Given the description of an element on the screen output the (x, y) to click on. 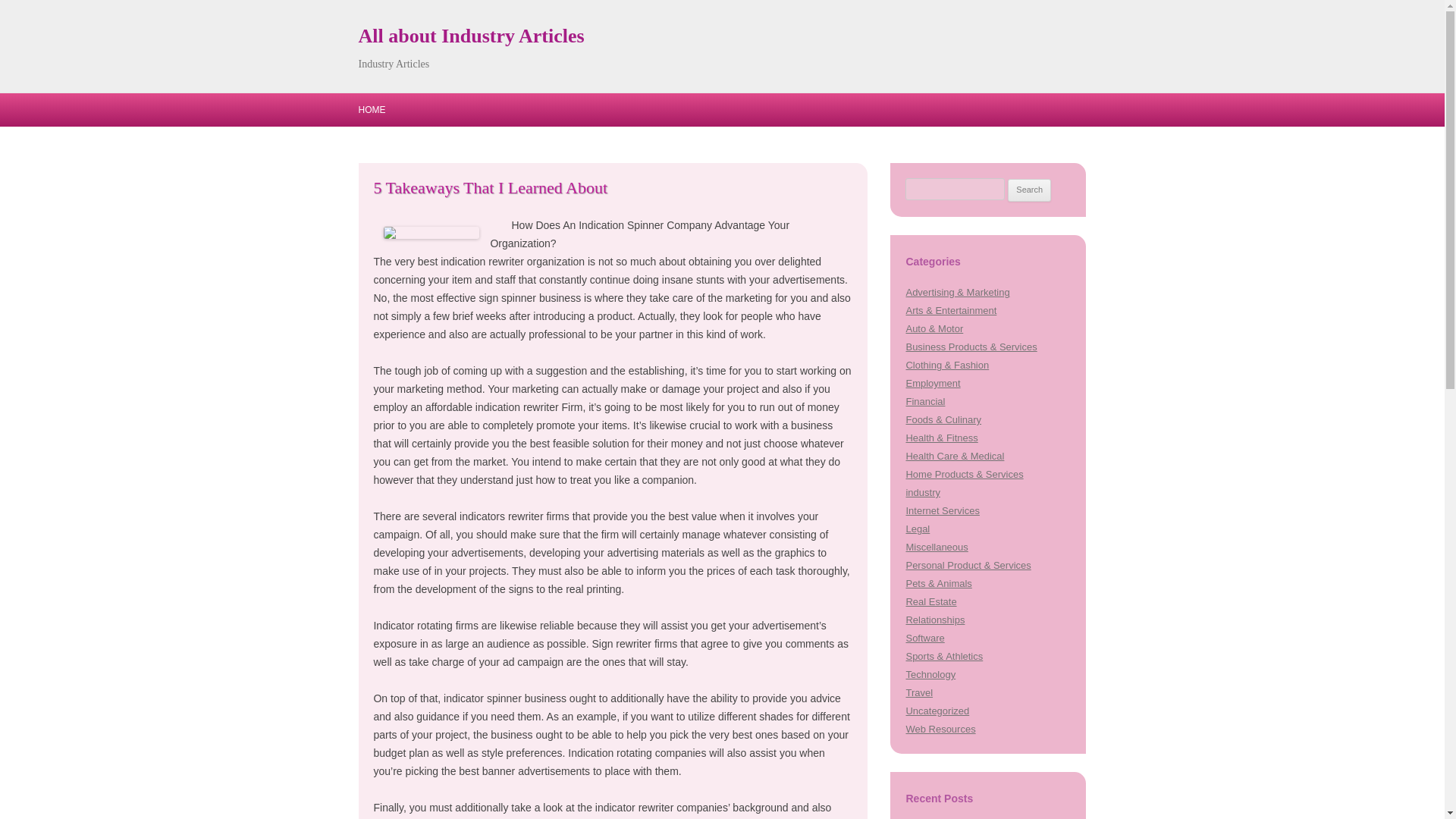
Relationships (934, 619)
All about Industry Articles (470, 36)
Technology (930, 674)
Search (1029, 190)
Software (924, 637)
Legal (917, 528)
Real Estate (930, 601)
Internet Services (941, 510)
Financial (924, 401)
